Given the description of an element on the screen output the (x, y) to click on. 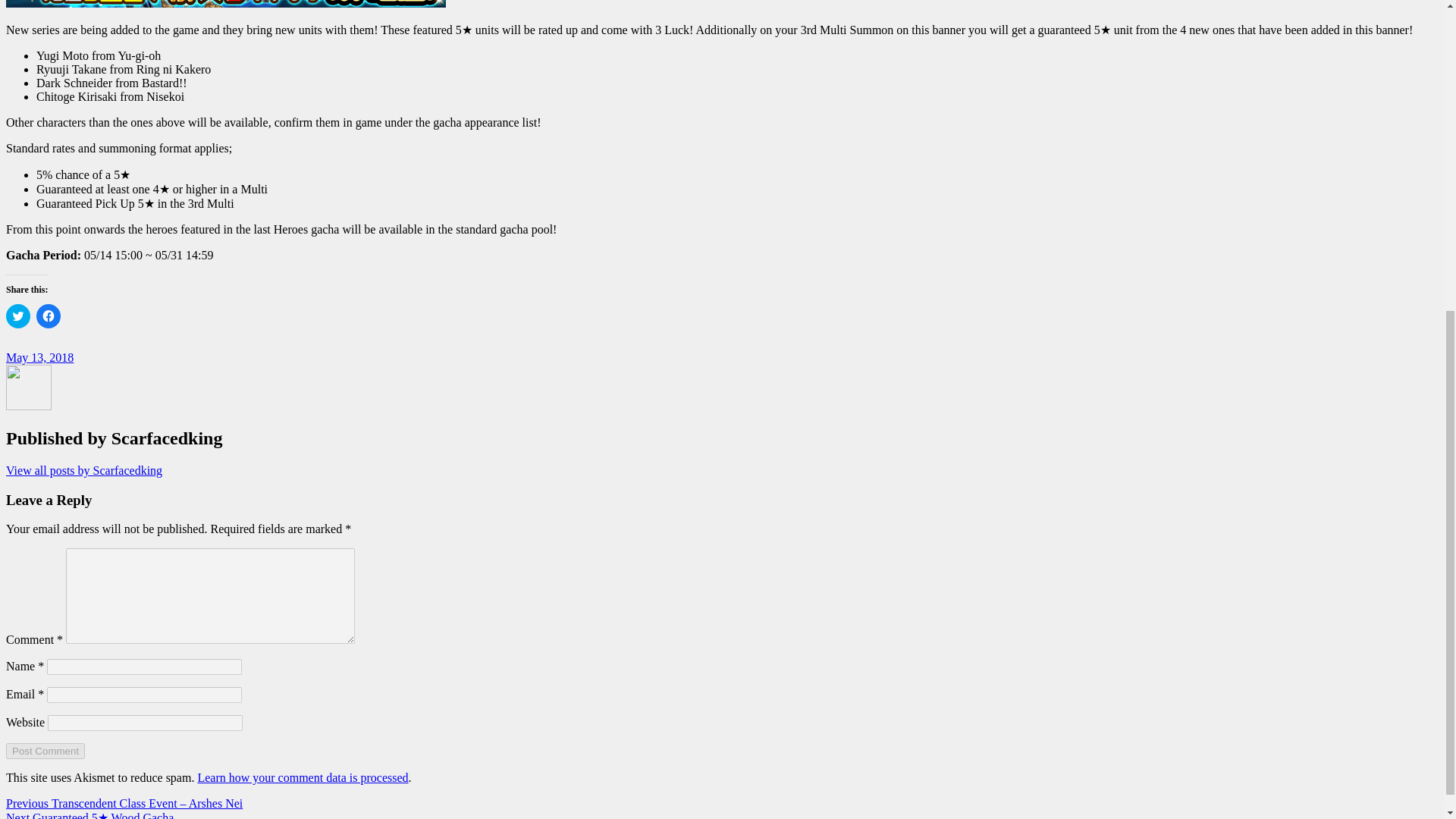
May 13, 2018 (39, 357)
Post Comment (44, 750)
Learn how your comment data is processed (301, 777)
Click to share on Facebook (48, 315)
View all posts by Scarfacedking (83, 470)
Click to share on Twitter (17, 315)
Post Comment (44, 750)
